Given the description of an element on the screen output the (x, y) to click on. 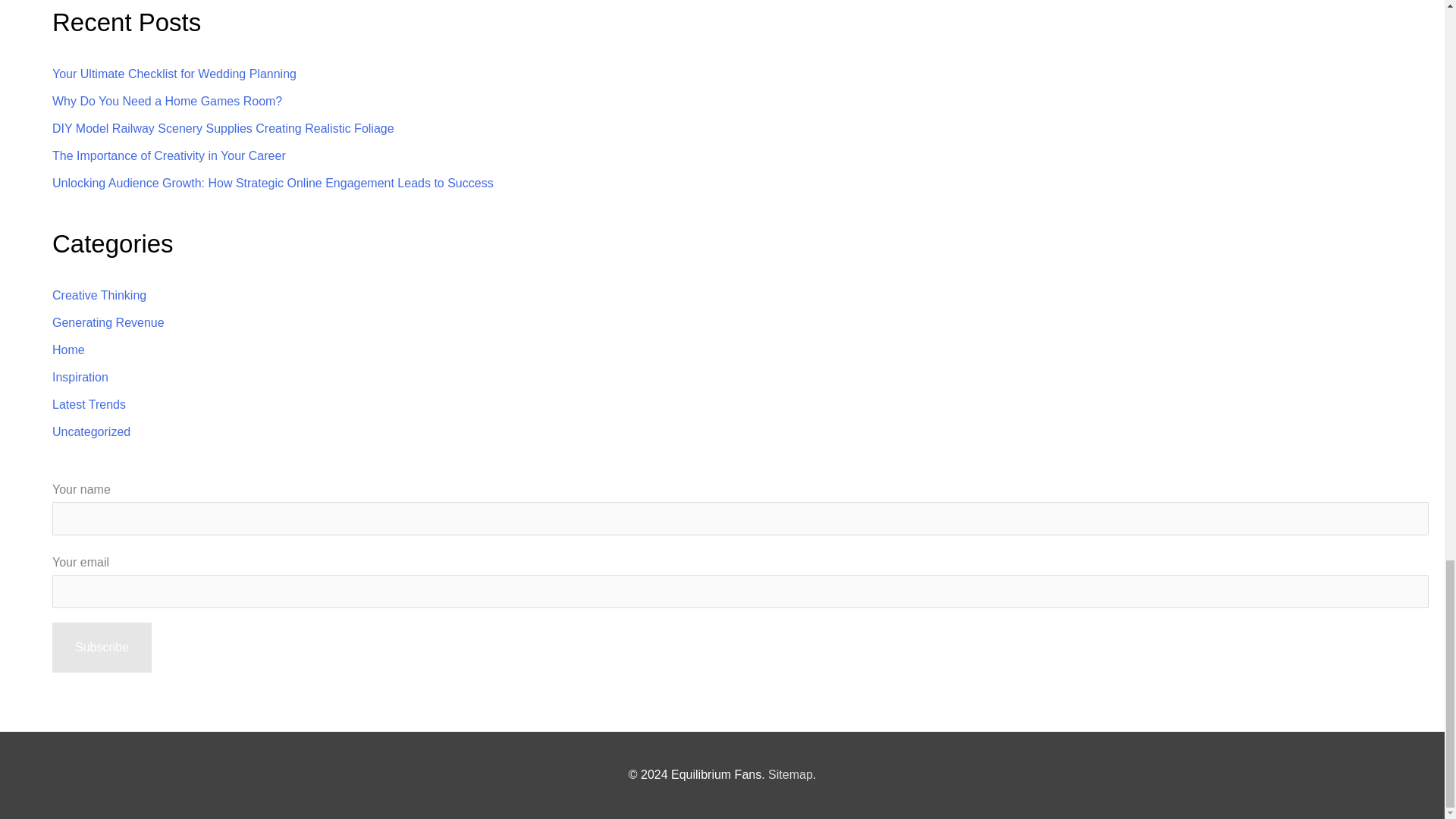
Subscribe (101, 647)
Why Do You Need a Home Games Room? (167, 101)
Your Ultimate Checklist for Wedding Planning (174, 73)
Generating Revenue (108, 322)
The Importance of Creativity in Your Career (168, 155)
Sitemap (790, 774)
Inspiration (79, 377)
Creative Thinking (99, 295)
Home (68, 349)
